Given the description of an element on the screen output the (x, y) to click on. 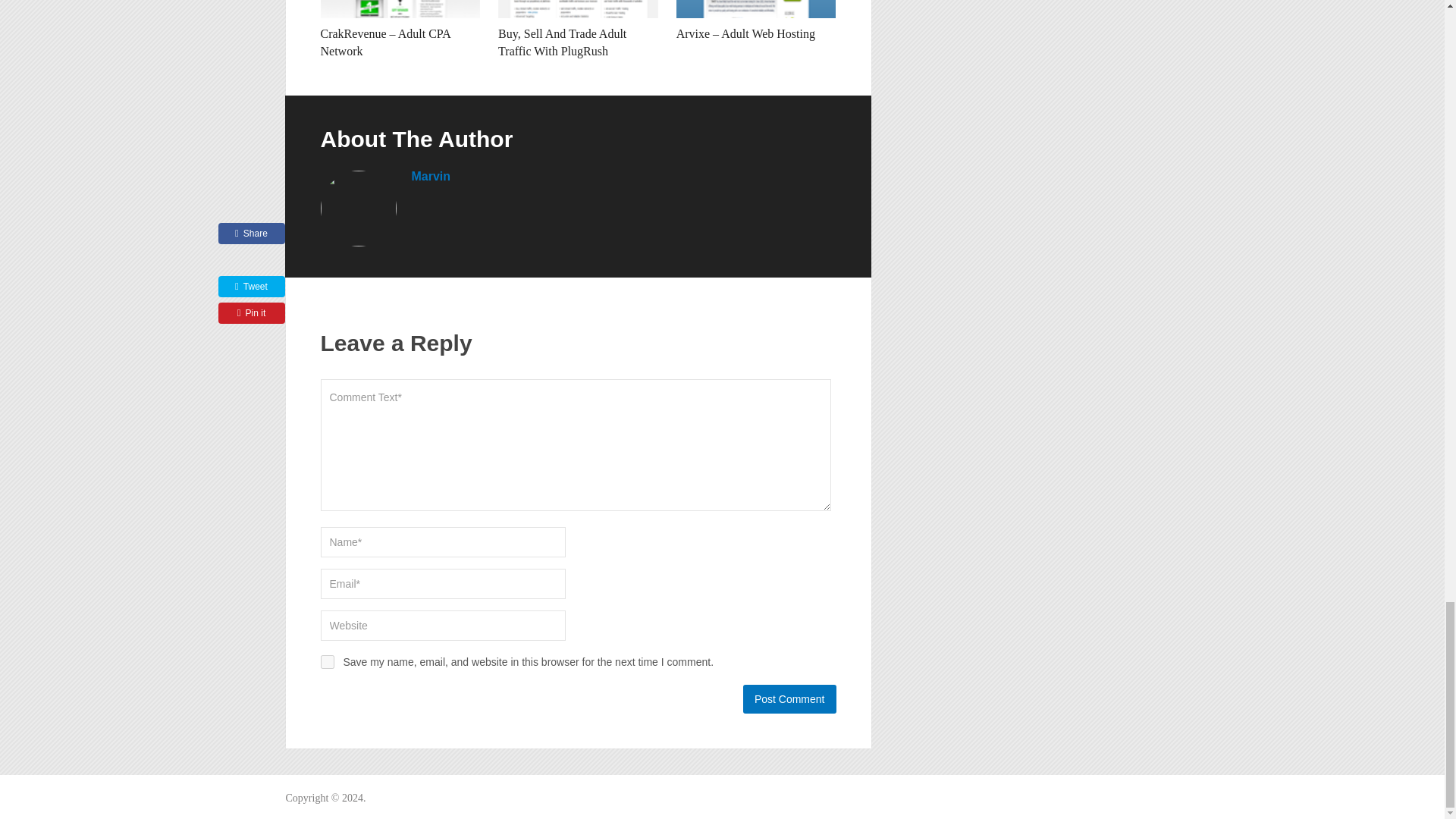
Post Comment (788, 698)
Buy, Sell And Trade Adult Traffic With PlugRush (577, 9)
yes (326, 662)
Buy, Sell And Trade Adult Traffic With PlugRush (561, 41)
Post Comment (788, 698)
Buy, Sell And Trade Adult Traffic With PlugRush (561, 41)
Marvin (429, 175)
